Given the description of an element on the screen output the (x, y) to click on. 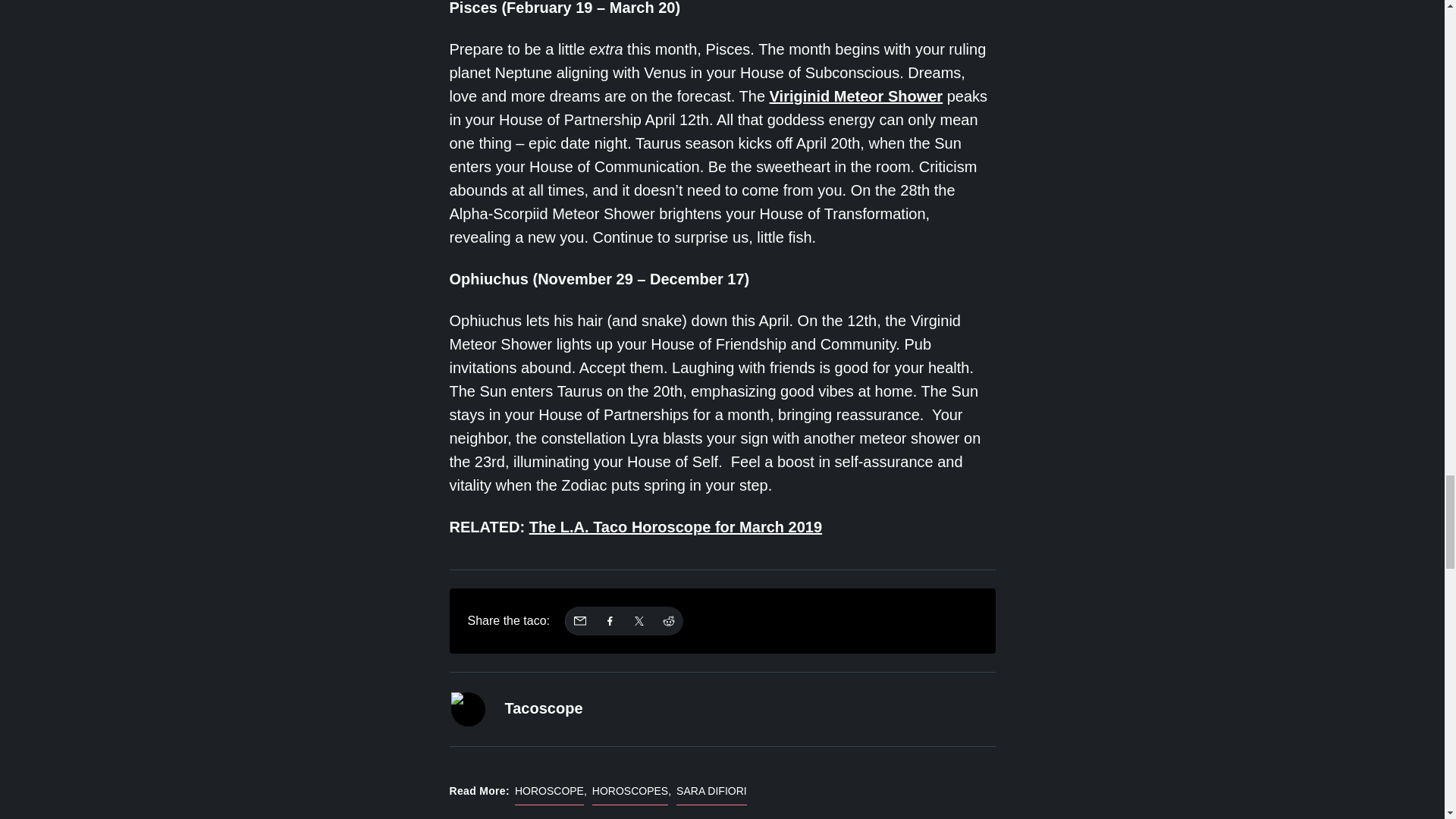
Viriginid Meteor Shower (856, 95)
Share on Email (580, 620)
The L.A. Taco Horoscope for March 2019 (675, 526)
